Given the description of an element on the screen output the (x, y) to click on. 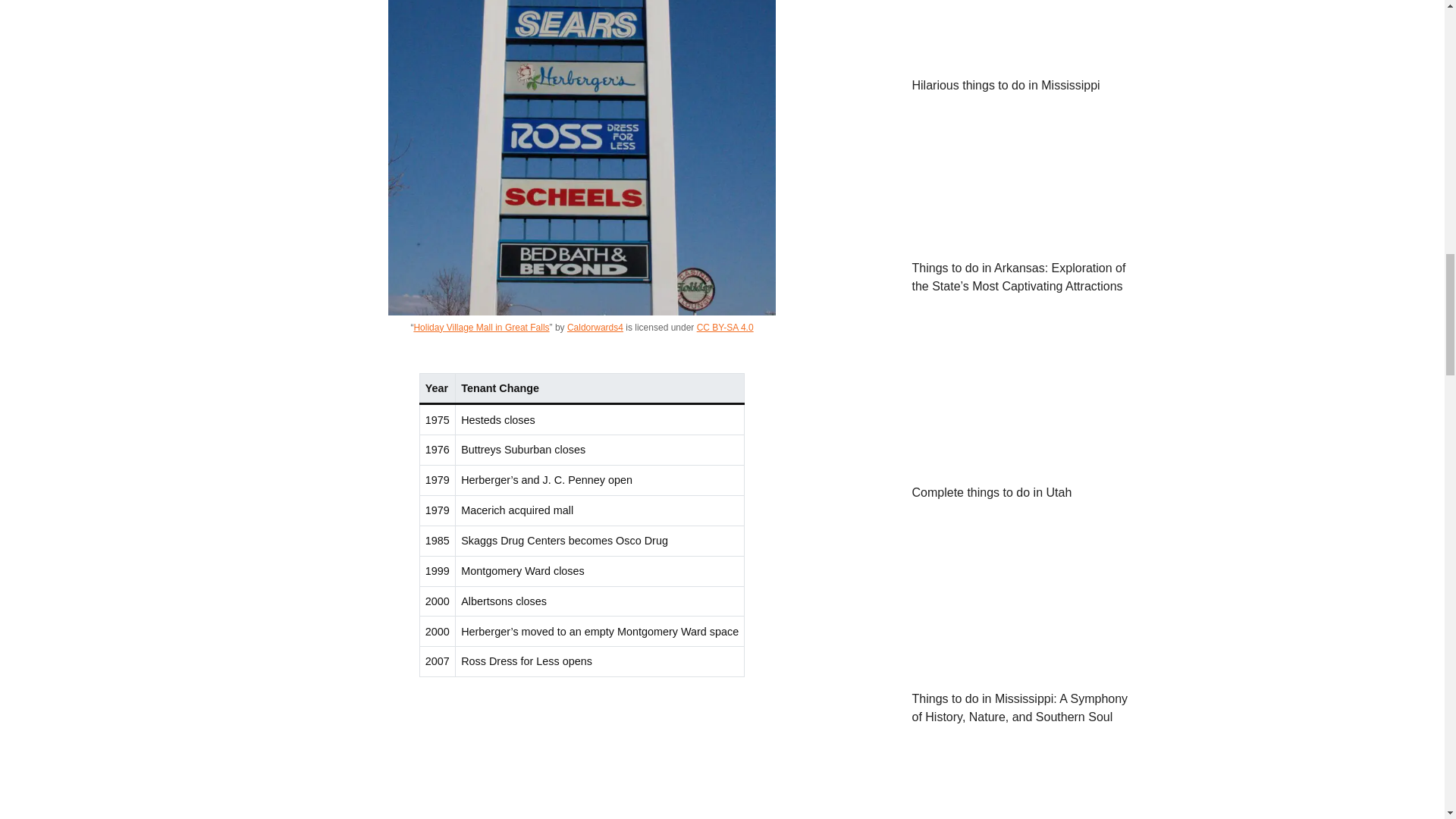
Hilarious things to do in Mississippi (1024, 54)
Hilarious things to do in Mississippi 11 (1024, 32)
Holiday Village Mall in Great Falls (480, 327)
Drone Great Falls, Montana (581, 762)
Complete things to do in Utah (1024, 461)
Caldorwards4 (595, 327)
CC BY-SA 4.0 (725, 327)
